Given the description of an element on the screen output the (x, y) to click on. 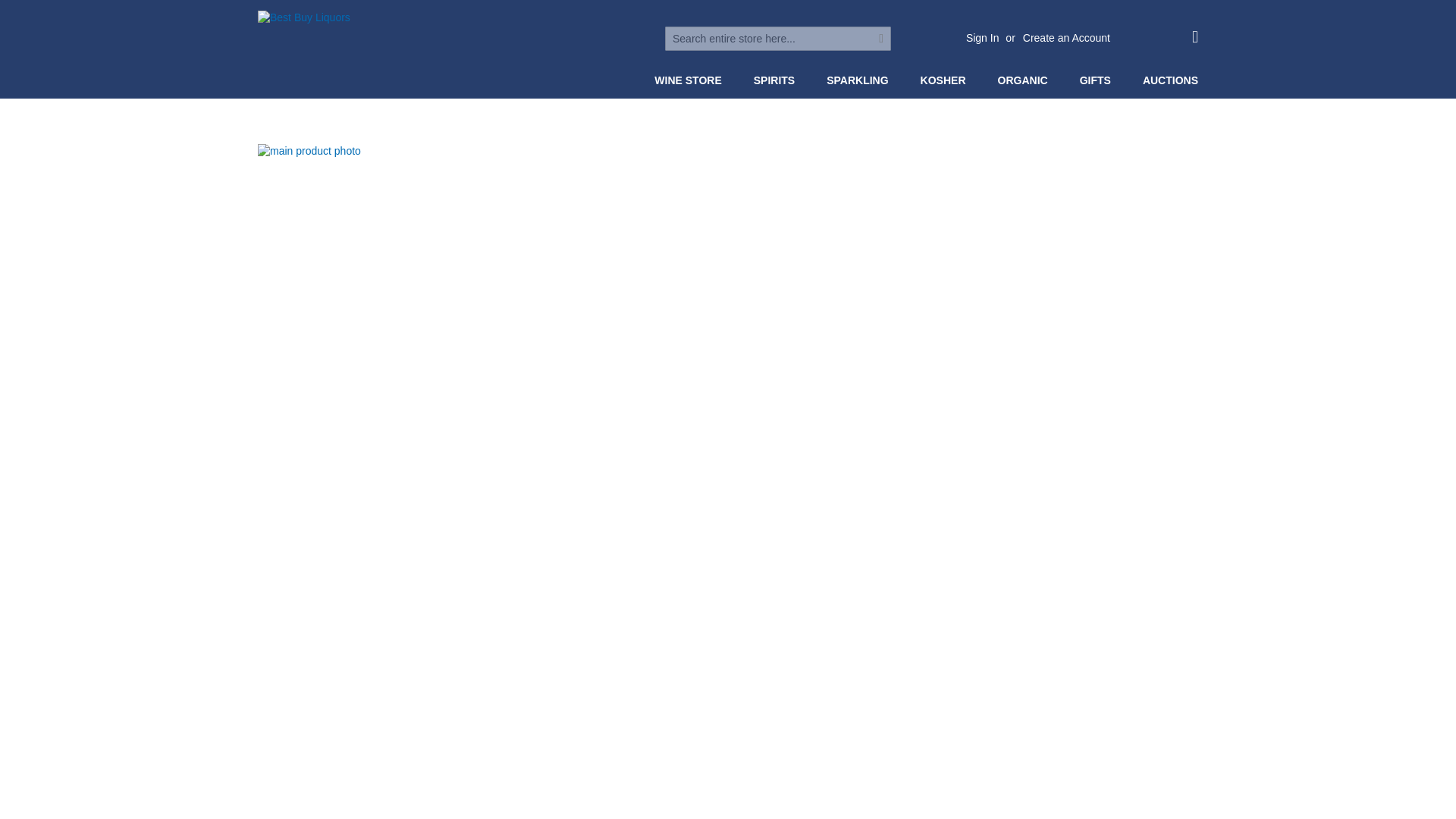
My Cart (1195, 36)
Sign In (982, 38)
Best Buy Liquors on Instagram (587, 38)
Search (881, 38)
SPIRITS (776, 80)
Search (881, 38)
Best Buy Liquors on Facebook (614, 38)
Best Buy Liquors (410, 54)
Create an Account (1066, 38)
WINE STORE (690, 80)
